Given the description of an element on the screen output the (x, y) to click on. 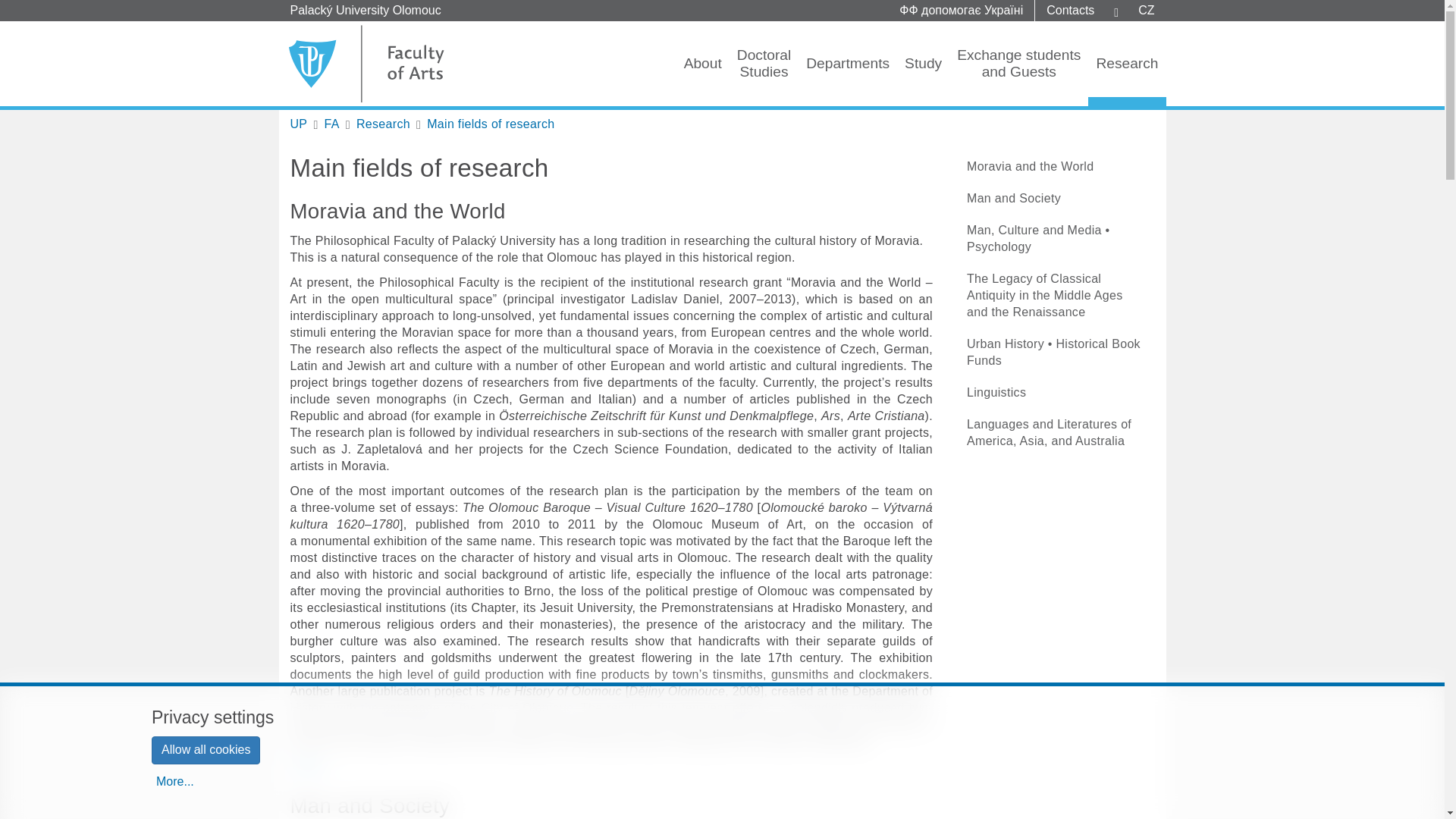
CZ (1146, 10)
More... (312, 767)
UP (298, 123)
Allow all cookies (205, 750)
FA (331, 123)
Research (383, 123)
Faculty of Arts (331, 123)
Departments (846, 63)
Main fields of research (490, 123)
Main fields of research (1018, 63)
Contacts (490, 123)
UP (1070, 10)
Research (298, 123)
Research (1126, 63)
